Given the description of an element on the screen output the (x, y) to click on. 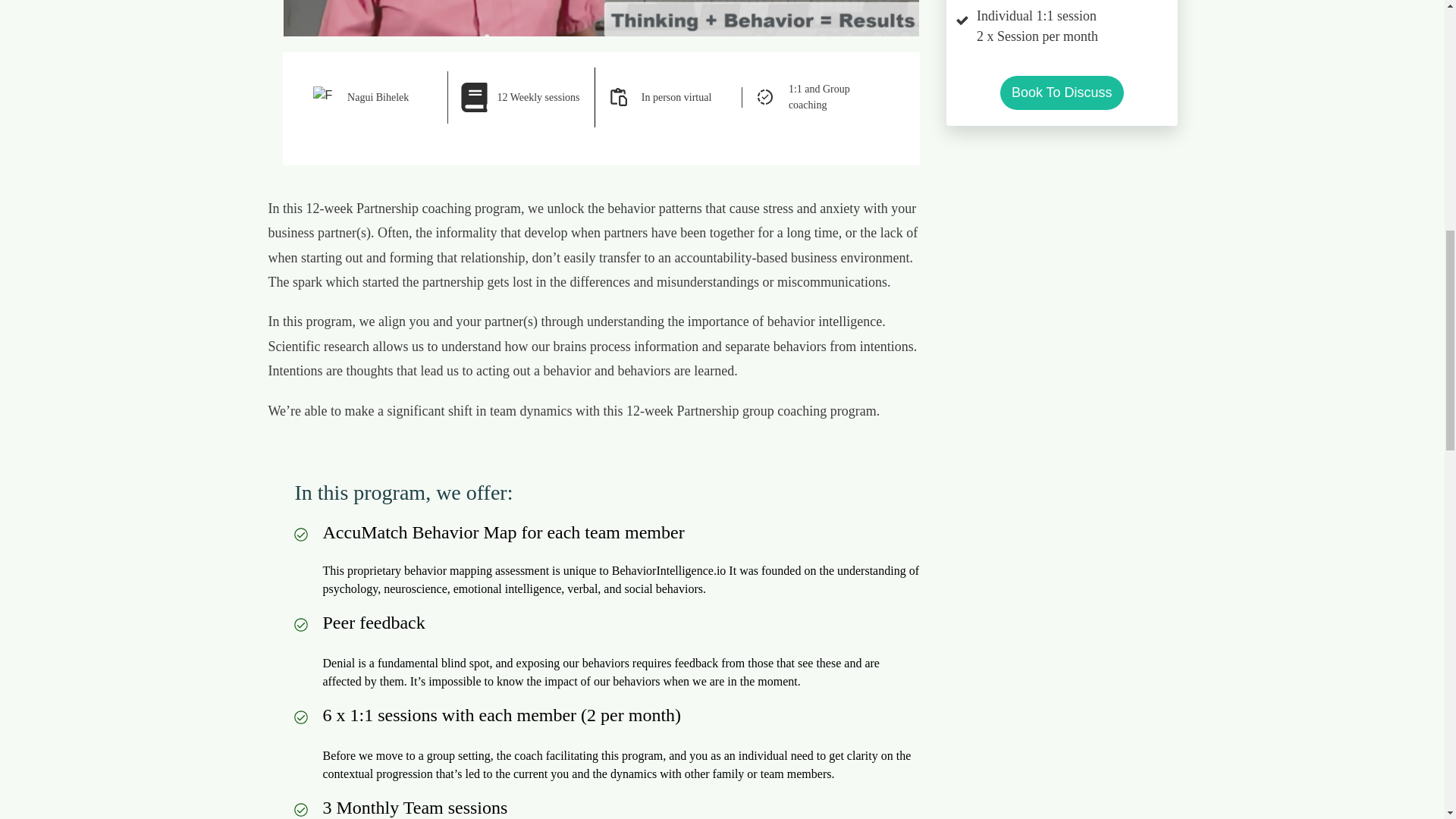
Book To Discuss (1062, 93)
Family Run Enterprises (323, 97)
